Given the description of an element on the screen output the (x, y) to click on. 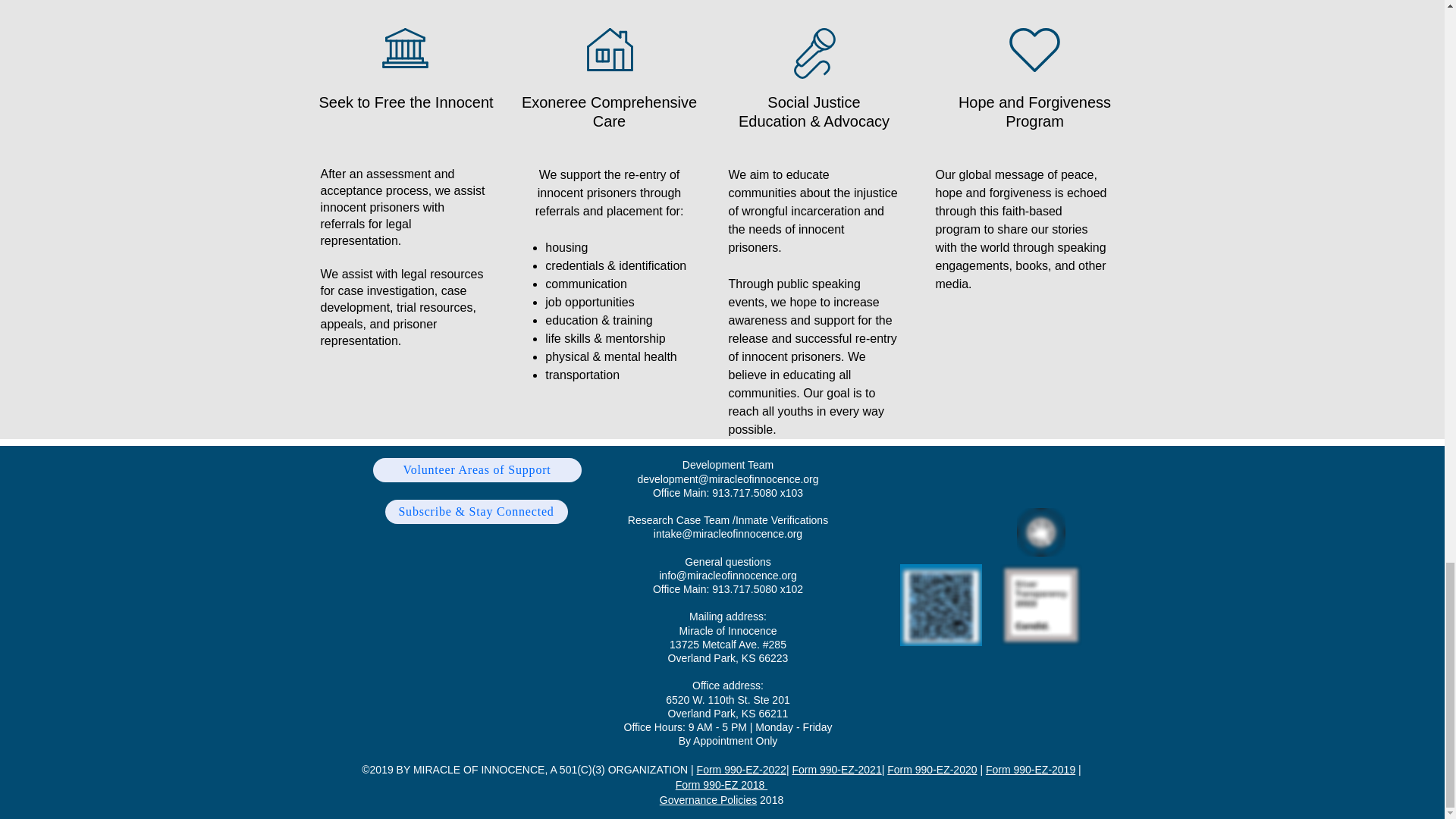
Form 990-EZ-2021 (836, 769)
Volunteer Areas of Support (476, 469)
Form 990-EZ-2020 (931, 769)
Form 990-EZ-2022 (741, 769)
